Given the description of an element on the screen output the (x, y) to click on. 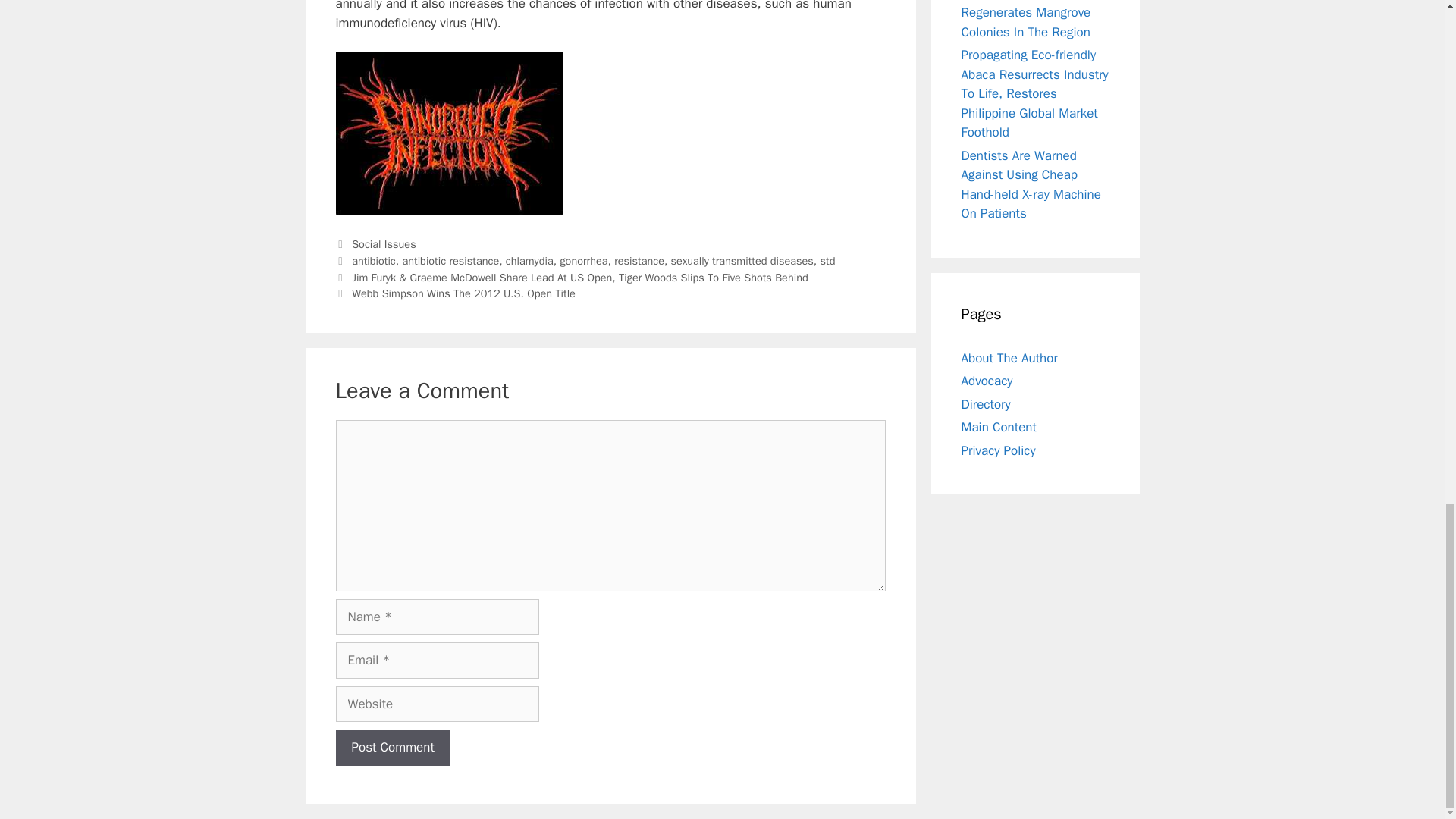
Post Comment (391, 747)
Webb Simpson Wins The 2012 U.S. Open Title (463, 293)
antibiotic (374, 260)
gonorrhea (583, 260)
gonorrhea infection (448, 133)
sexually transmitted diseases (742, 260)
std (828, 260)
chlamydia (529, 260)
About The Author (1009, 357)
Post Comment (391, 747)
Social Issues (383, 243)
antibiotic resistance (450, 260)
resistance (638, 260)
